Given the description of an element on the screen output the (x, y) to click on. 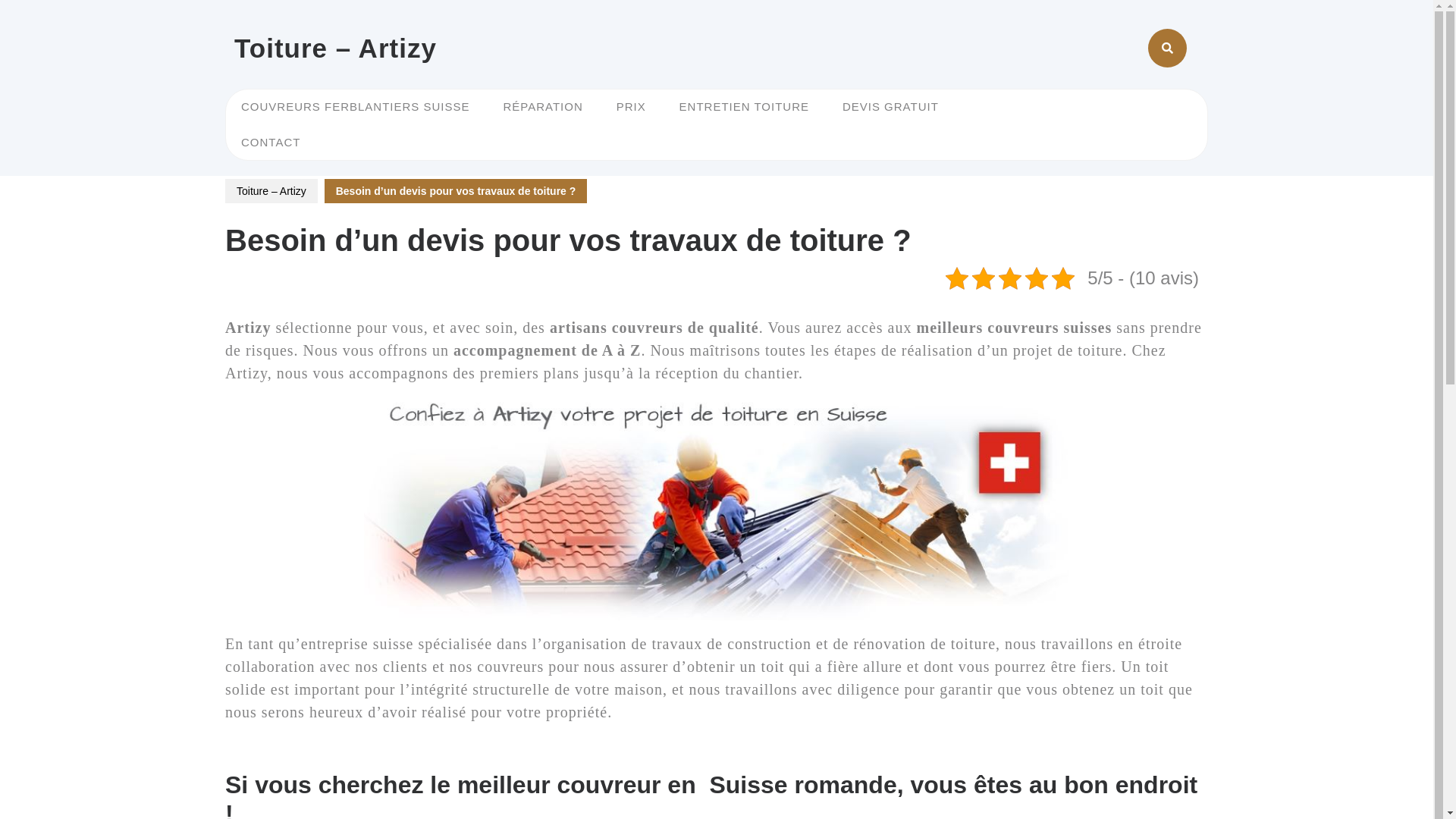
CONTACT Element type: text (270, 142)
ENTRETIEN TOITURE Element type: text (744, 107)
DEVIS GRATUIT Element type: text (890, 107)
PRIX Element type: text (631, 107)
COUVREURS FERBLANTIERS SUISSE Element type: text (355, 107)
